Given the description of an element on the screen output the (x, y) to click on. 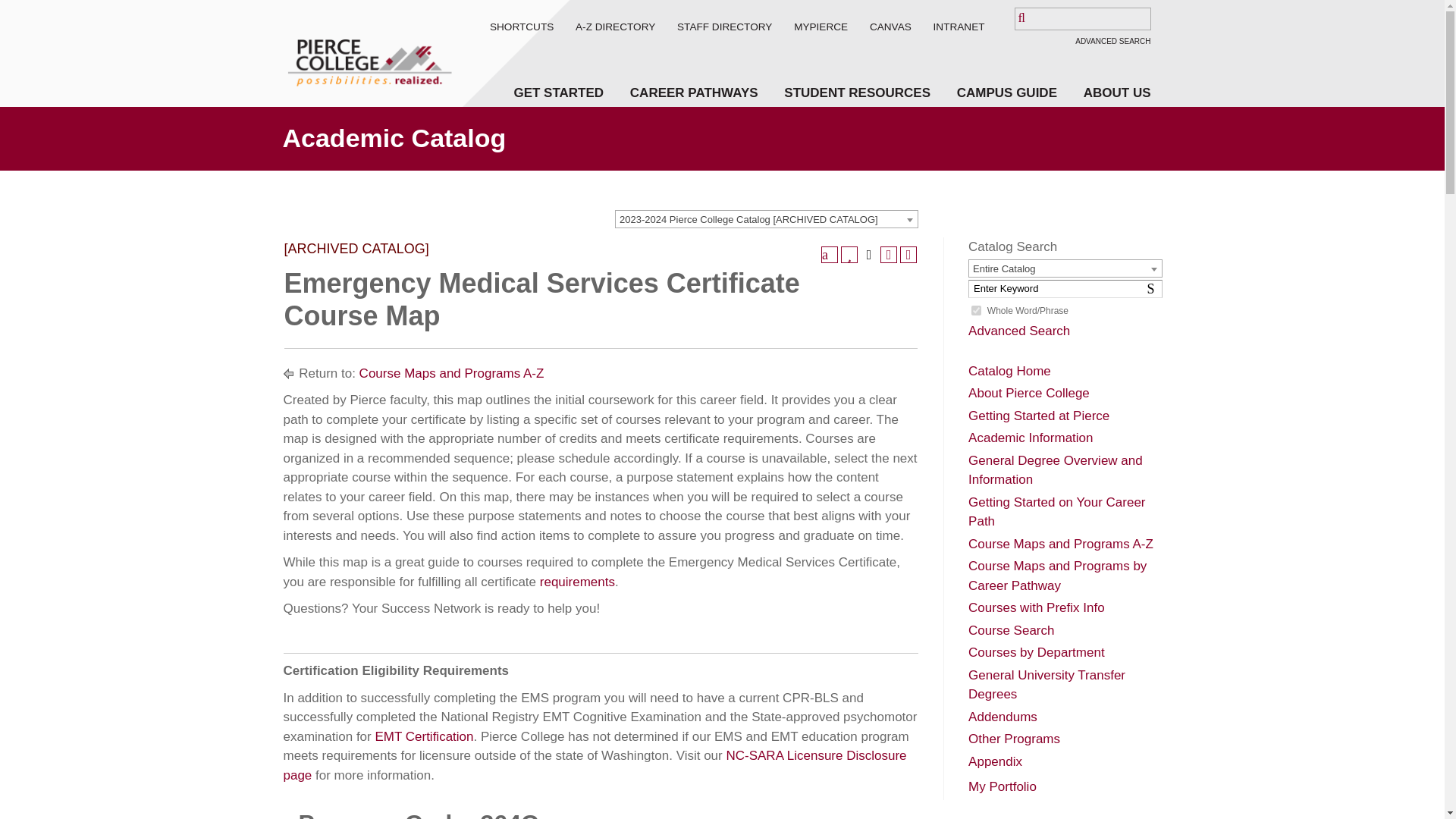
MYPIERCE (820, 26)
GET STARTED (558, 92)
SHORTCUTS (521, 26)
STAFF DIRECTORY (724, 26)
1 (976, 310)
Home (366, 53)
INTRANET (959, 26)
Enter the terms you wish to search for. (1082, 18)
A-Z DIRECTORY (615, 26)
Search (49, 17)
CANVAS (890, 26)
Enter Keyword   (1064, 289)
ADVANCED SEARCH (1112, 40)
